Given the description of an element on the screen output the (x, y) to click on. 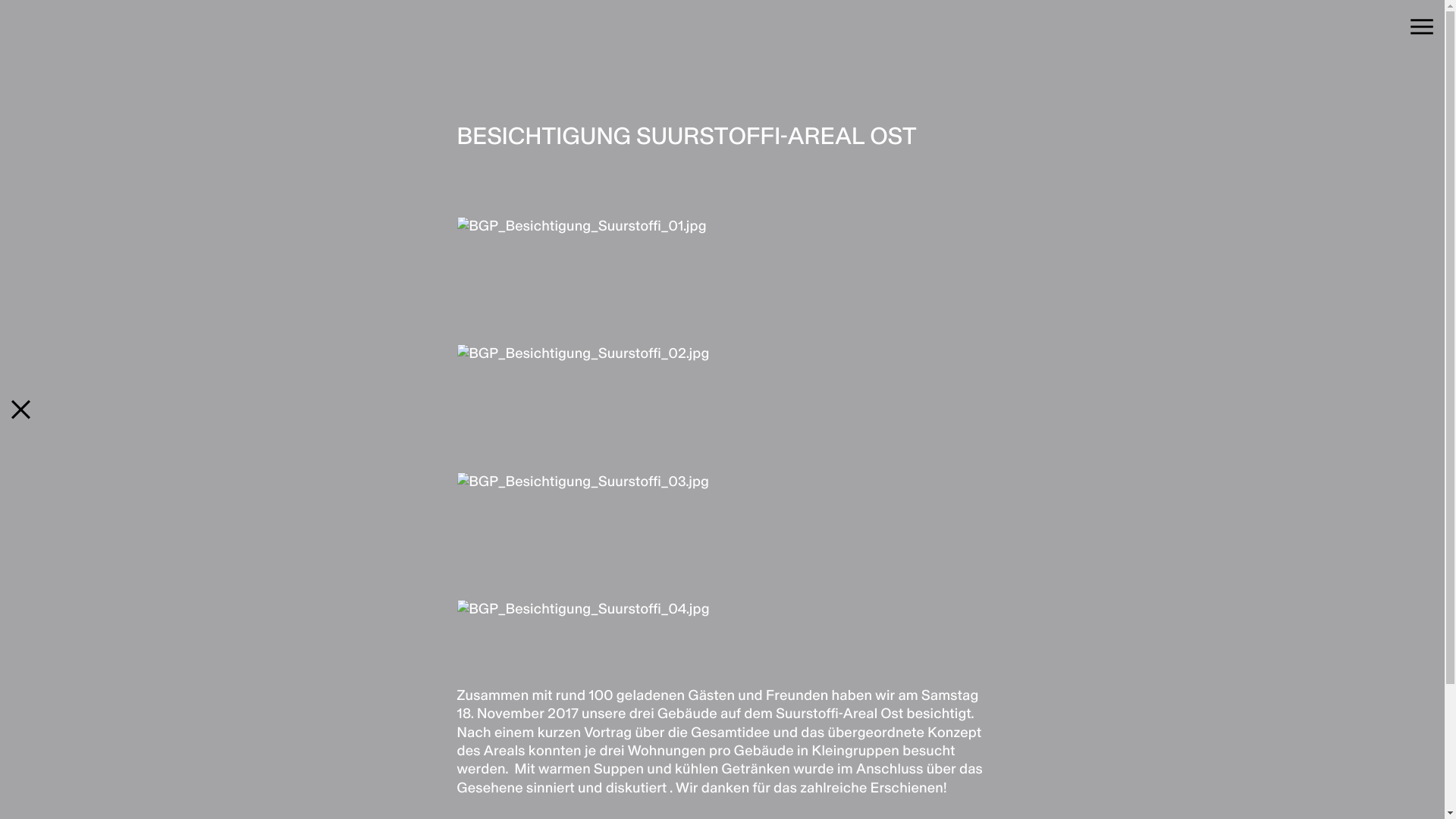
Direkt zum Inhalt Element type: text (0, 0)
